Given the description of an element on the screen output the (x, y) to click on. 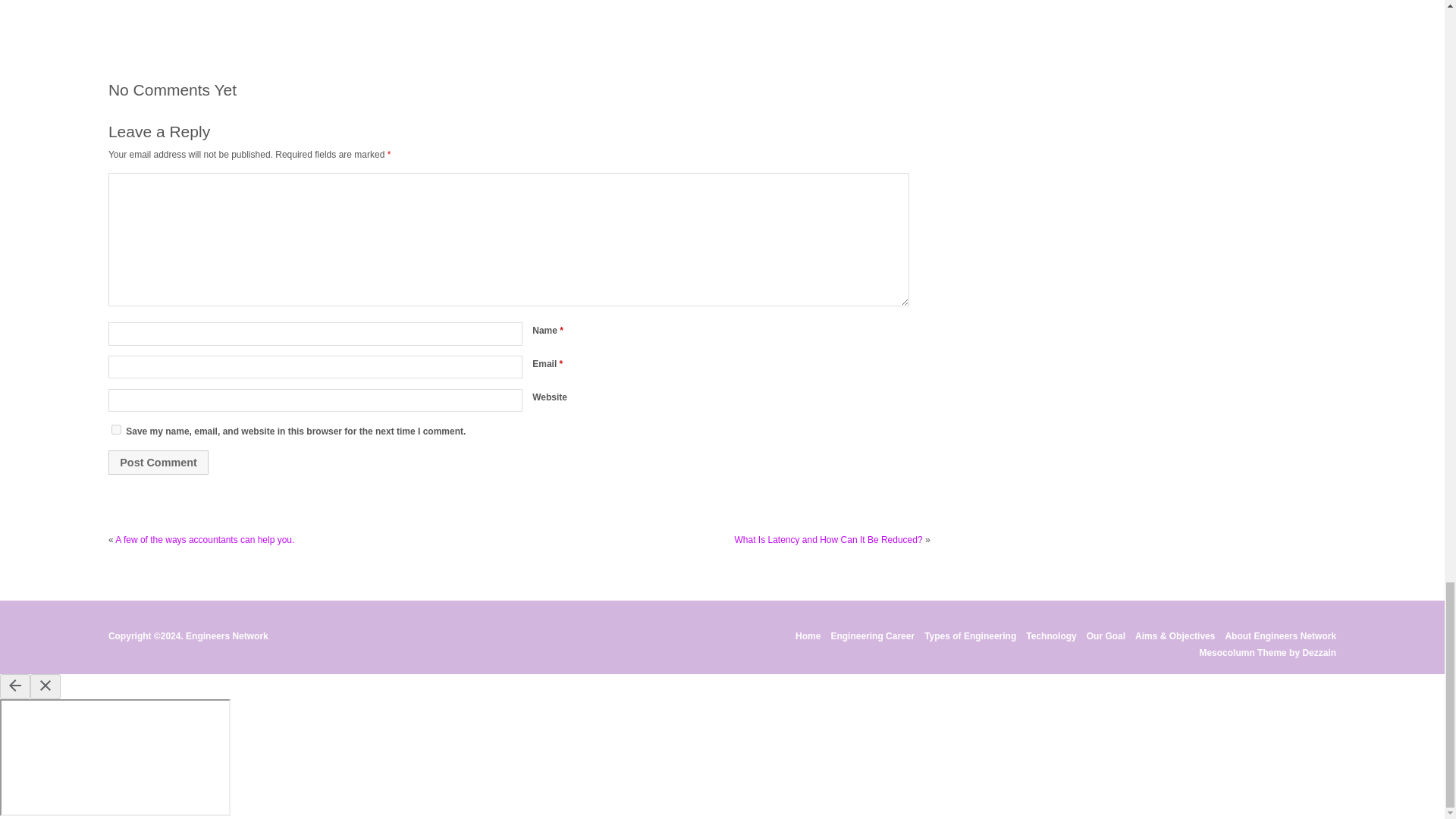
yes (116, 429)
Post Comment (157, 462)
